Given the description of an element on the screen output the (x, y) to click on. 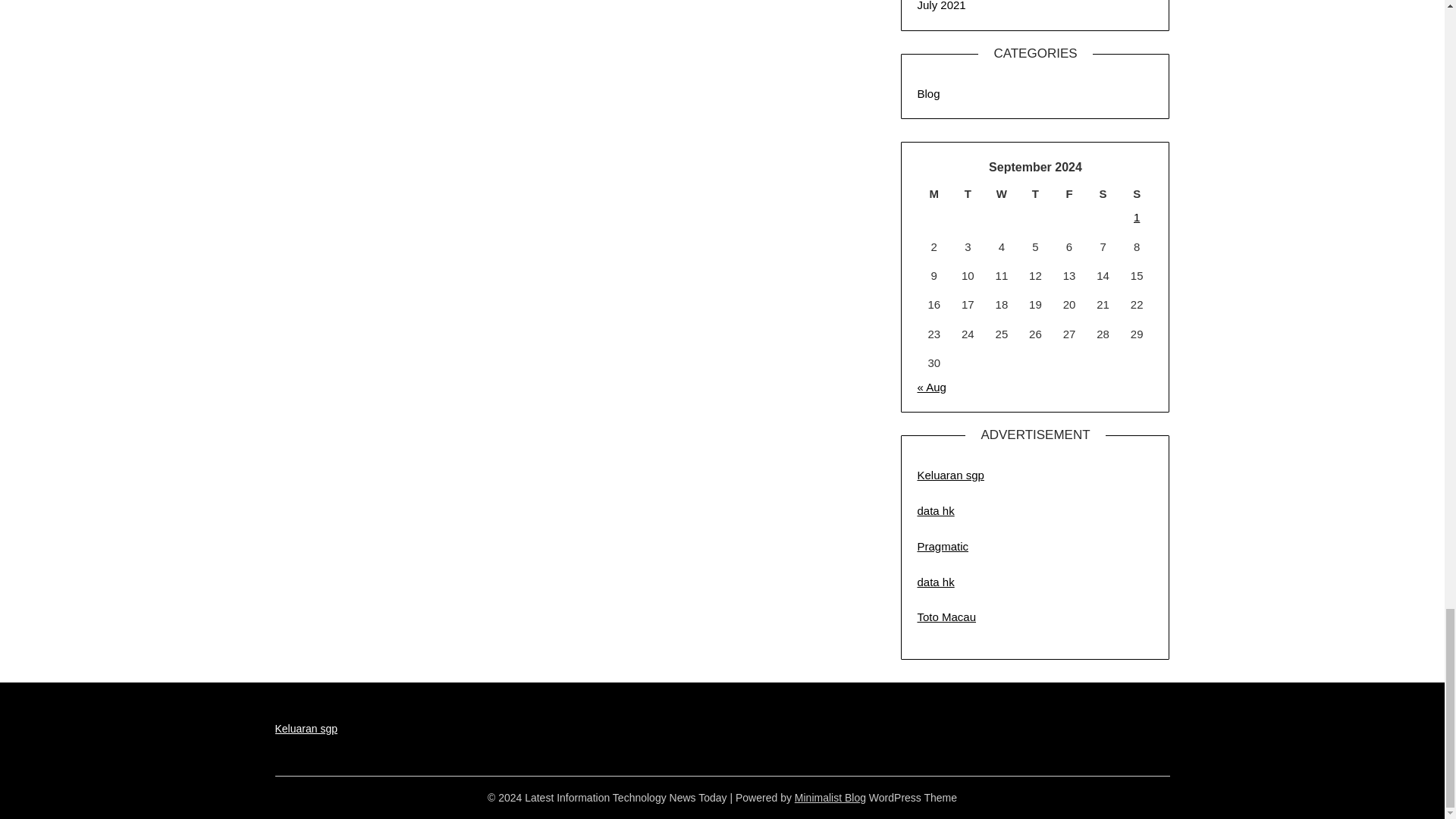
Sunday (1136, 194)
Tuesday (967, 194)
Thursday (1034, 194)
Saturday (1102, 194)
Friday (1069, 194)
Monday (933, 194)
Wednesday (1002, 194)
